Given the description of an element on the screen output the (x, y) to click on. 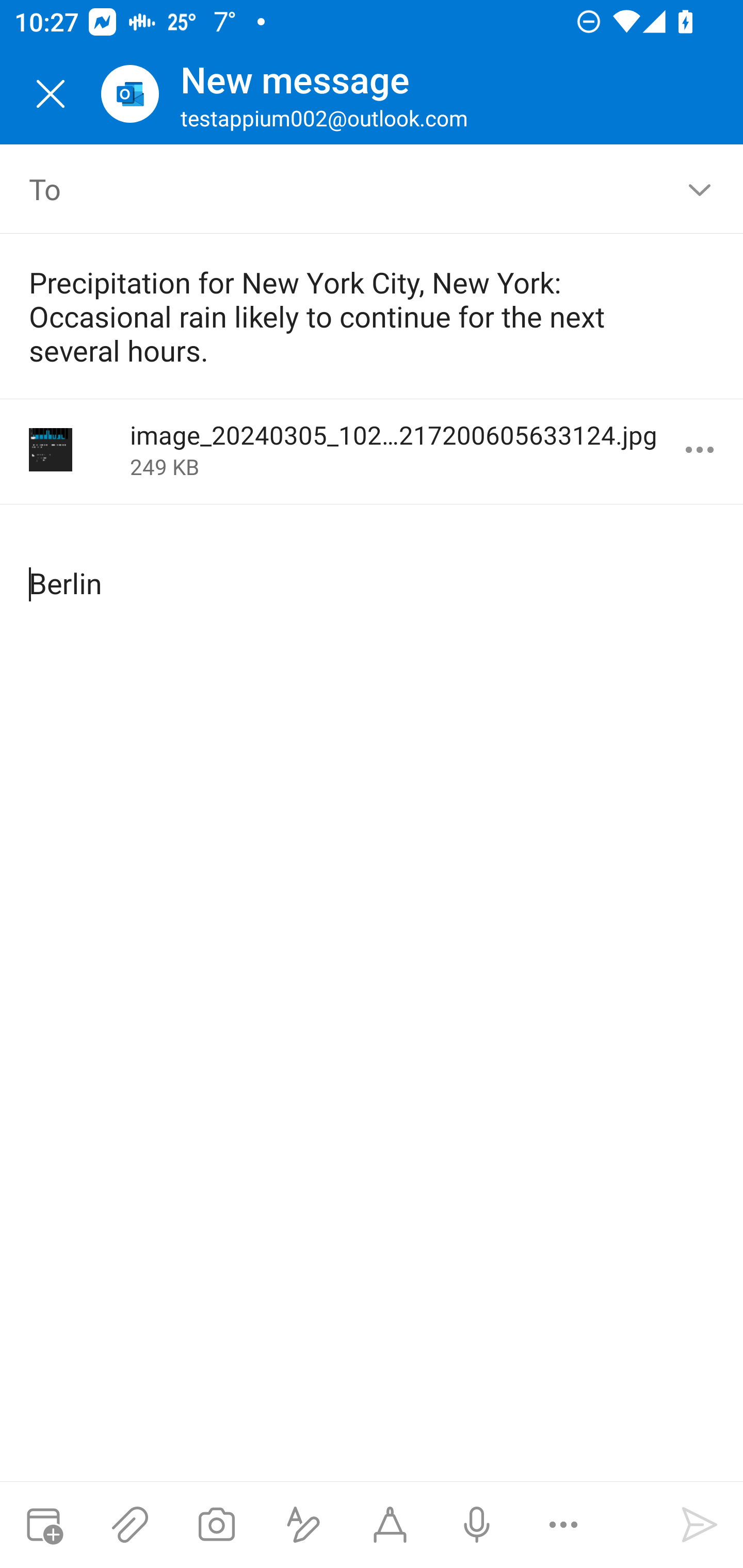
Close (50, 93)
More options (699, 449)

Berlin (372, 567)
Attach meeting (43, 1524)
Attach files (129, 1524)
Take a photo (216, 1524)
Show formatting options (303, 1524)
Start Ink compose (389, 1524)
Dictation (476, 1524)
More options (563, 1524)
Send (699, 1524)
